Given the description of an element on the screen output the (x, y) to click on. 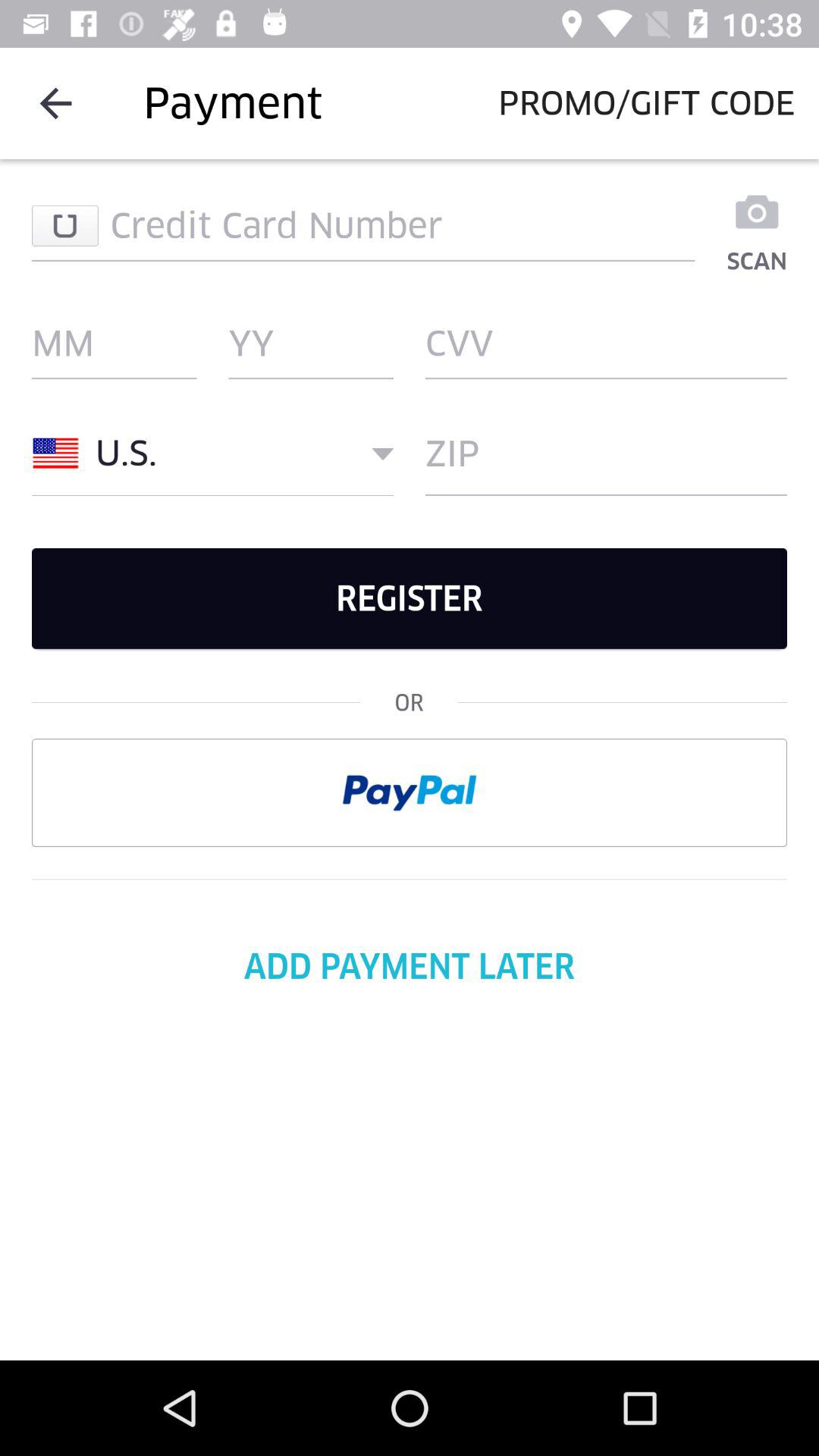
enter expiring year of creditcard (310, 343)
